Given the description of an element on the screen output the (x, y) to click on. 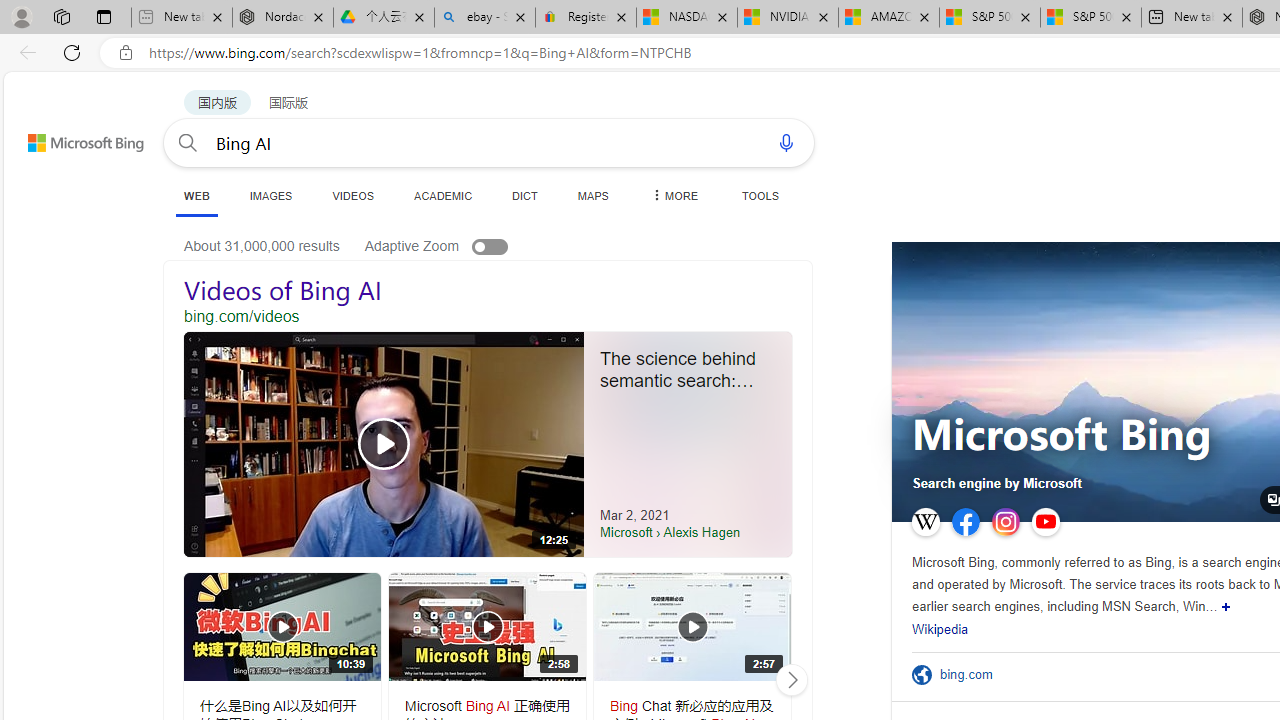
VIDEOS (352, 195)
WEB (196, 196)
Instagram (1006, 521)
Videos of Bing AI (488, 291)
Wikipedia (939, 629)
Dropdown Menu (673, 195)
TOOLS (760, 195)
IMAGES (270, 195)
Skip to content (63, 133)
TOOLS (760, 195)
DICT (525, 195)
